Given the description of an element on the screen output the (x, y) to click on. 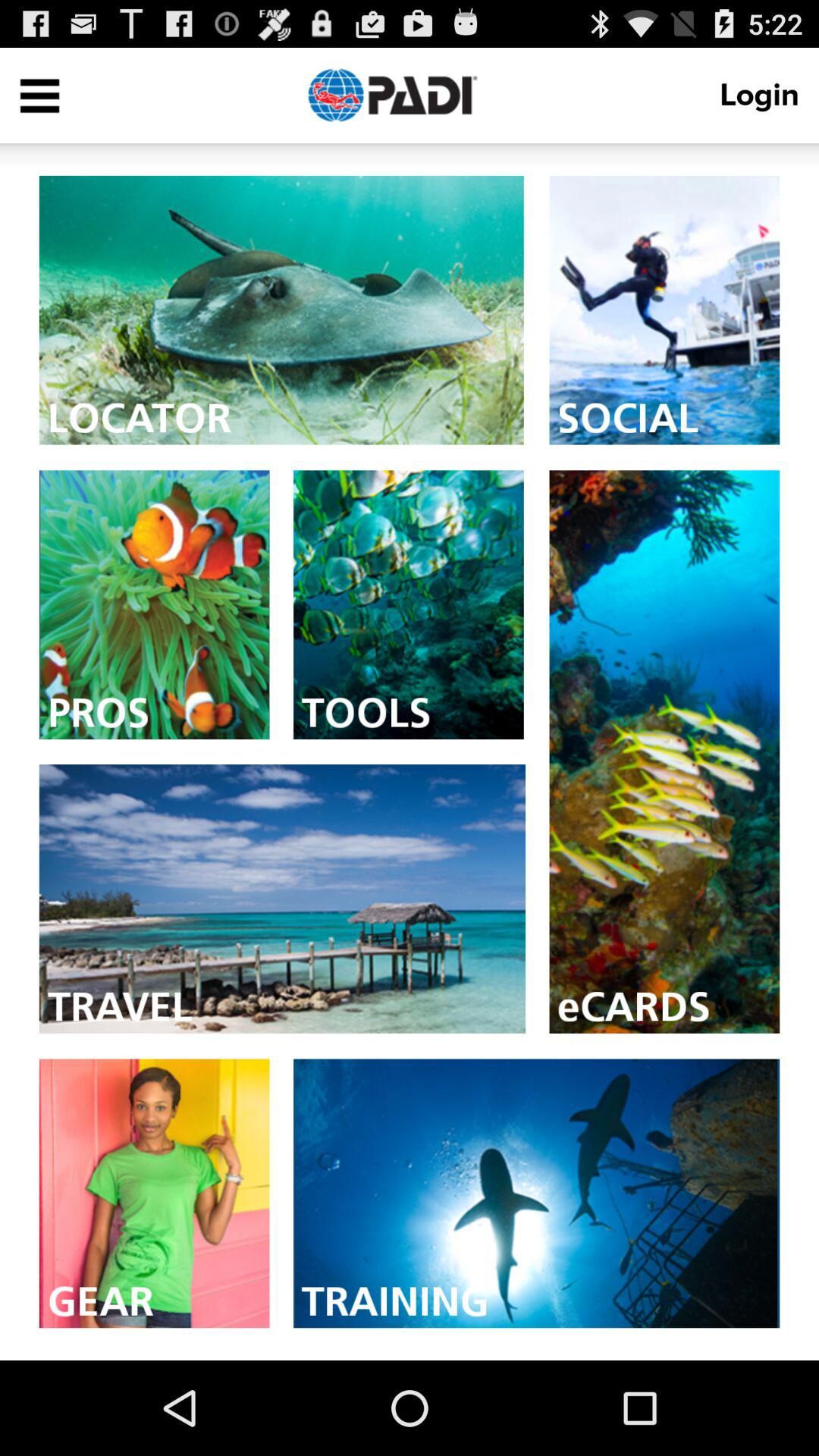
travel (282, 898)
